Given the description of an element on the screen output the (x, y) to click on. 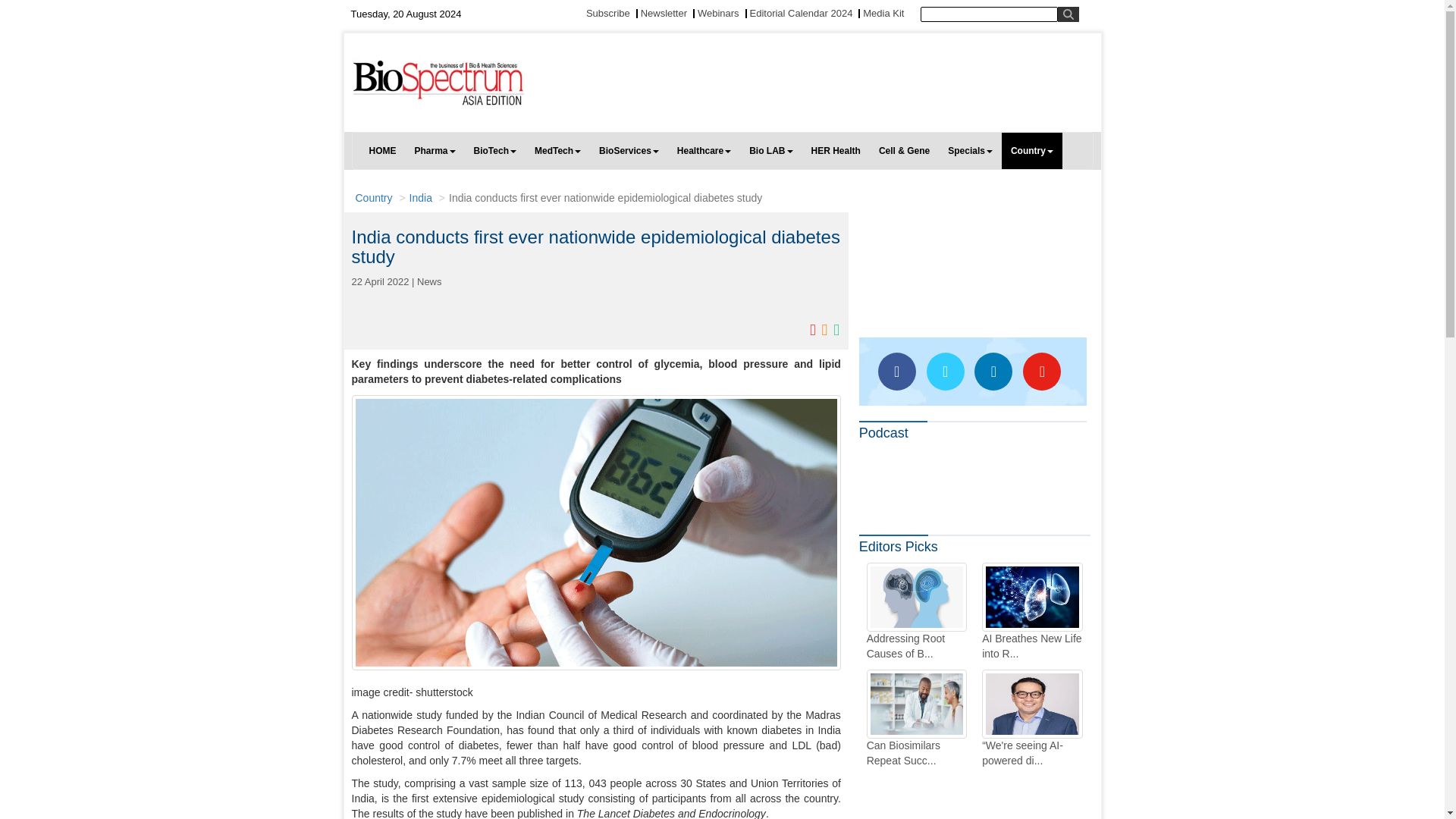
Healthcare (703, 150)
BioServices (628, 150)
HOME (381, 150)
Bio LAB (770, 150)
Facebook (896, 371)
Linkedin (992, 371)
Subscribe (608, 12)
BioTech (494, 150)
Twitter (944, 371)
